Given the description of an element on the screen output the (x, y) to click on. 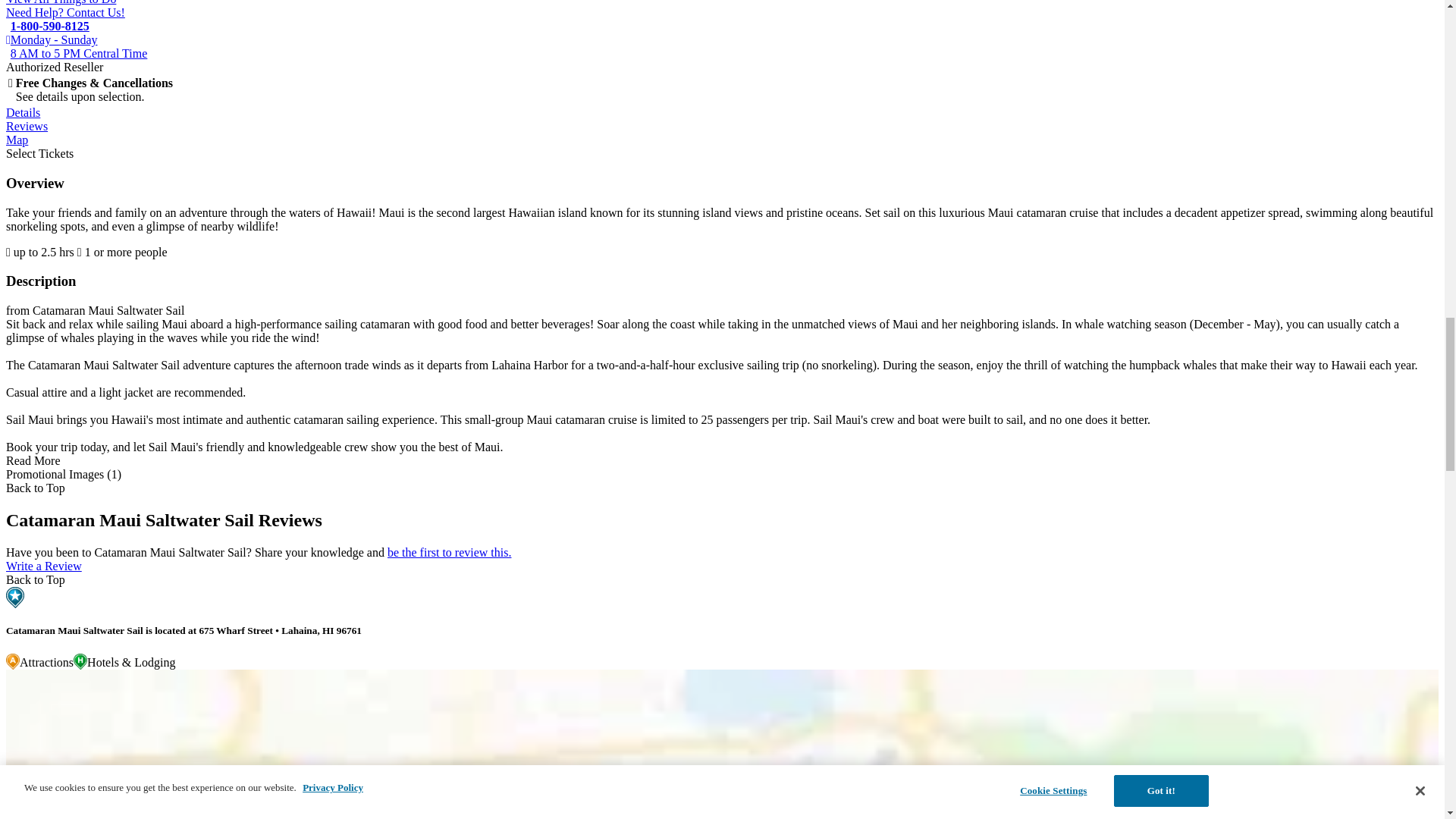
Read More (33, 460)
Back to Top (35, 579)
Back to Top (35, 487)
Select Tickets (39, 153)
Map (16, 139)
Select Tickets (39, 153)
Details (22, 112)
View All Things to Do (60, 2)
Write a Review (43, 565)
be the first to review this. (449, 552)
Reviews (26, 125)
